Given the description of an element on the screen output the (x, y) to click on. 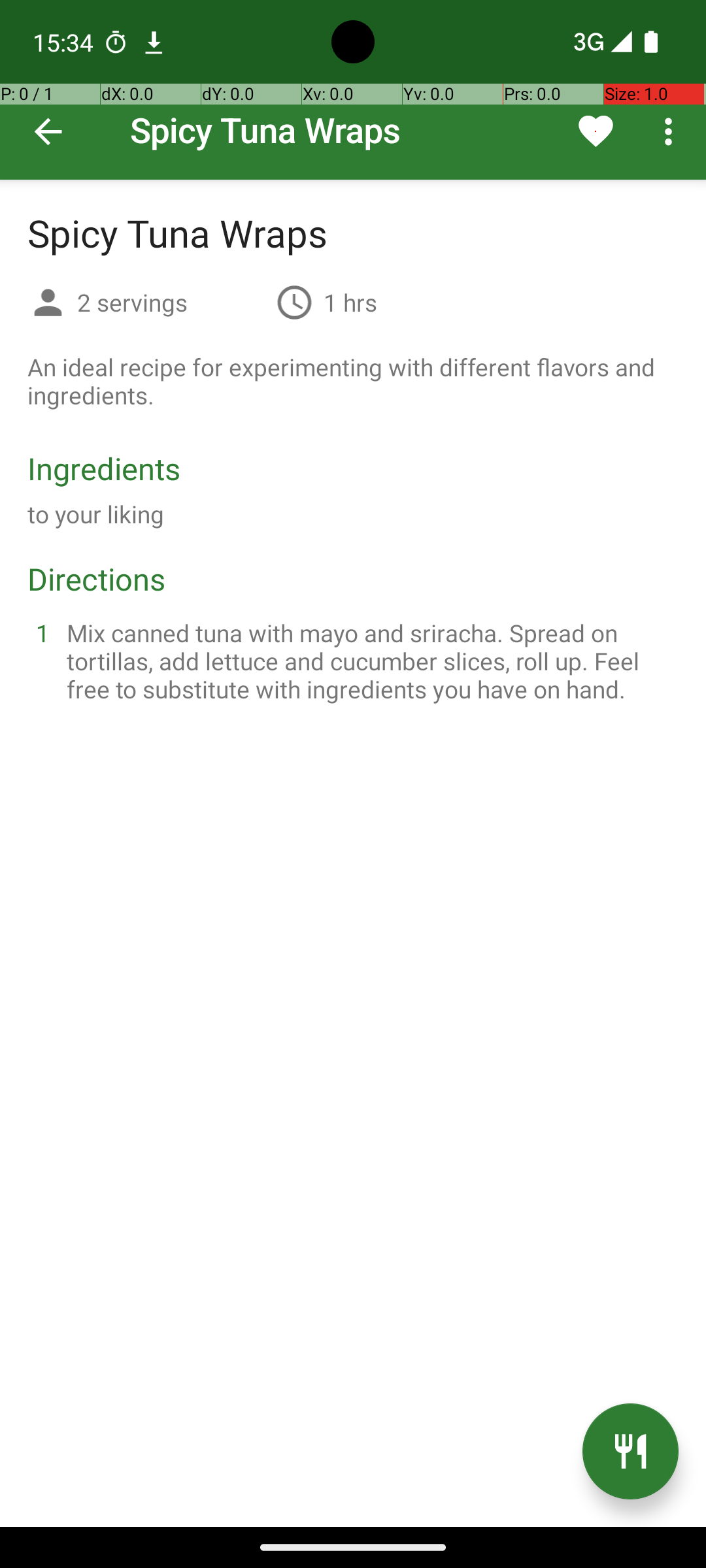
Spicy Tuna Wraps Element type: android.widget.FrameLayout (353, 89)
Mix canned tuna with mayo and sriracha. Spread on tortillas, add lettuce and cucumber slices, roll up. Feel free to substitute with ingredients you have on hand. Element type: android.widget.TextView (368, 660)
